Given the description of an element on the screen output the (x, y) to click on. 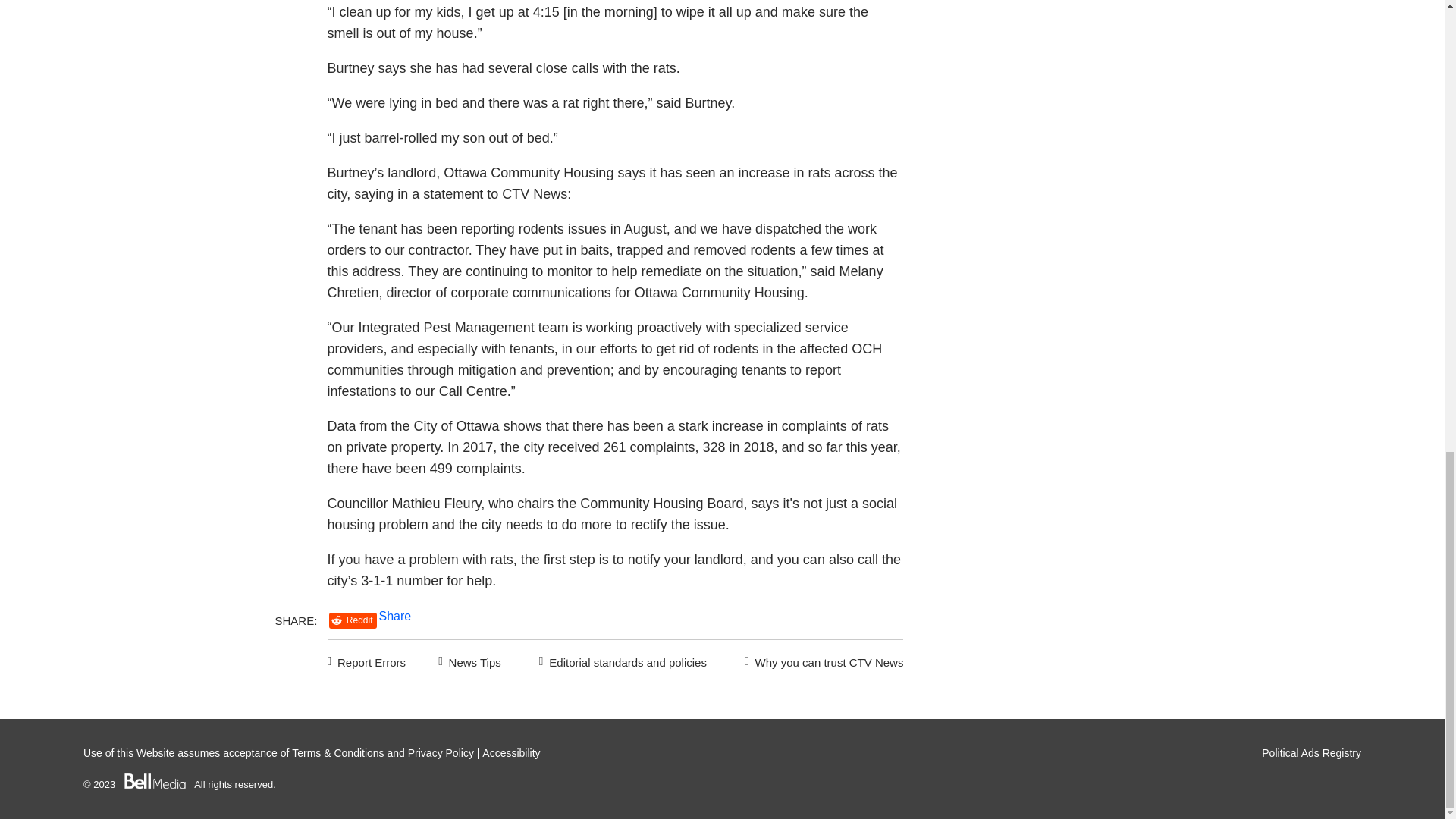
Accessibility (510, 752)
Report Errors (366, 660)
Privacy Policy (440, 752)
Reddit (353, 620)
Share (395, 615)
Editorial standards and policies (620, 660)
News Tips (469, 660)
Why you can trust CTV News (820, 660)
Political Ads Registry (1311, 752)
